Given the description of an element on the screen output the (x, y) to click on. 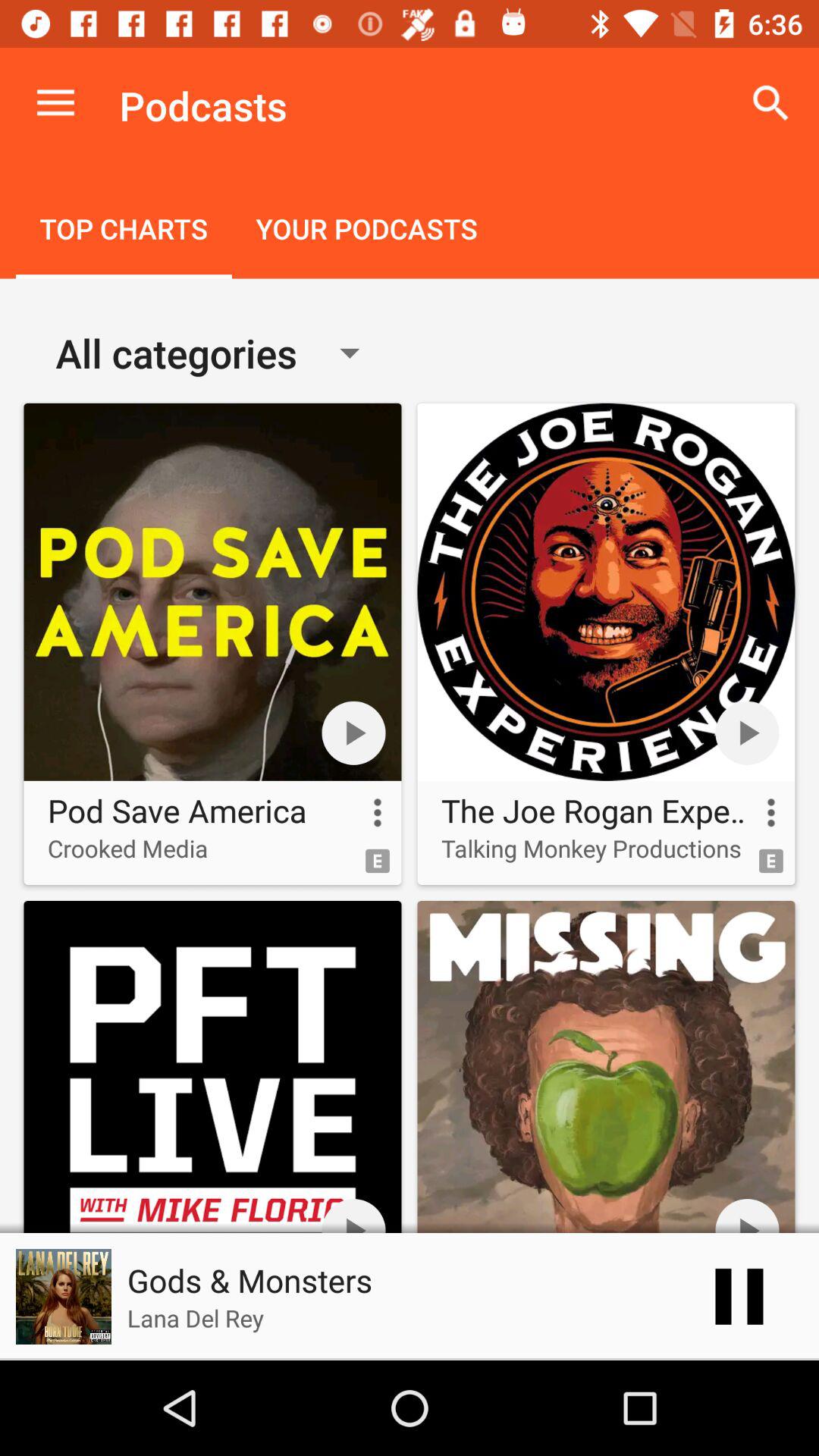
tap the icon to the left of the your podcasts icon (123, 230)
